Given the description of an element on the screen output the (x, y) to click on. 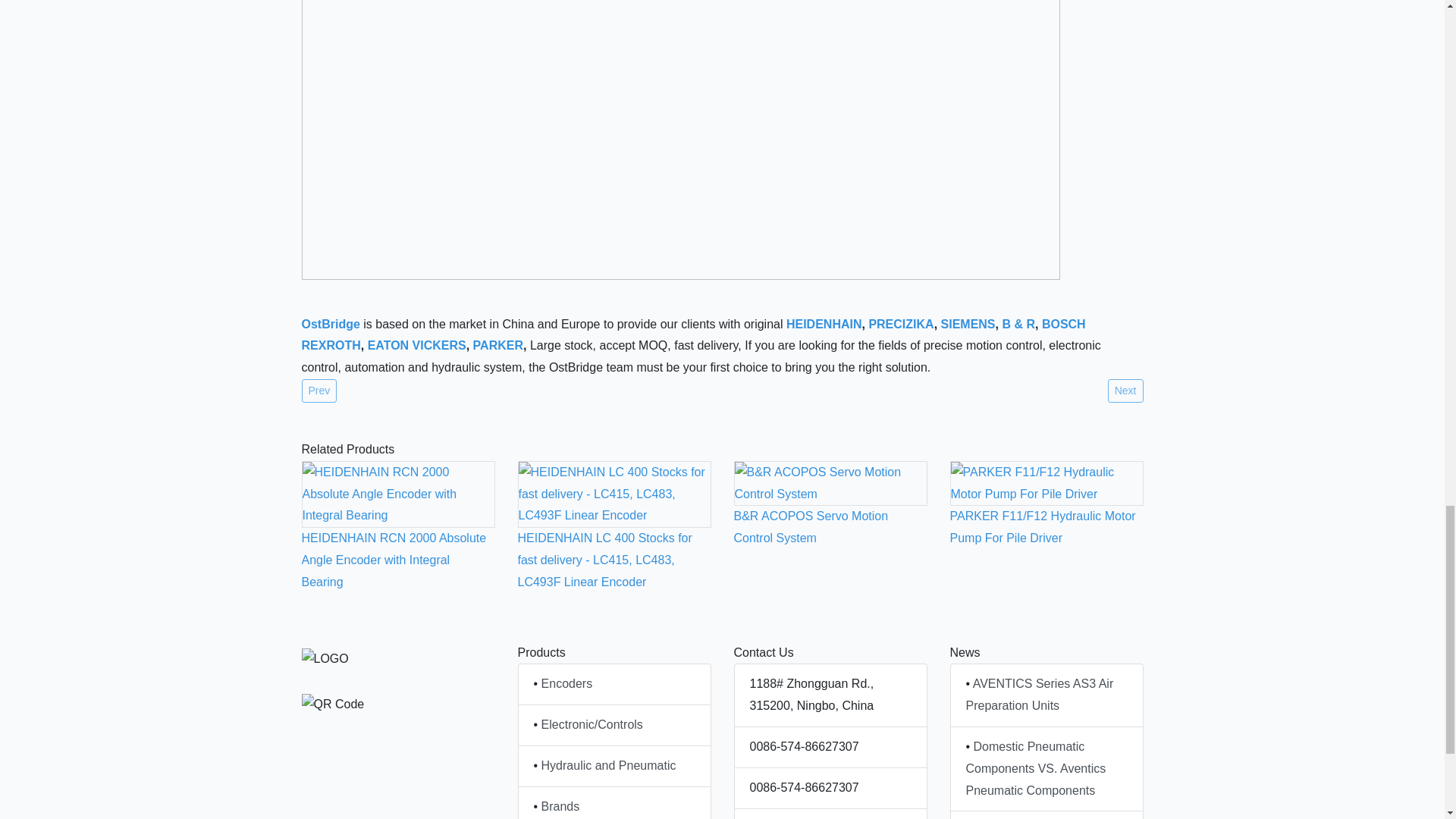
AVENTICS Series AS3 Air Preparation Units (1039, 694)
Brands (560, 806)
Hydraulic and Pneumatic (609, 765)
Encoders (566, 683)
